Given the description of an element on the screen output the (x, y) to click on. 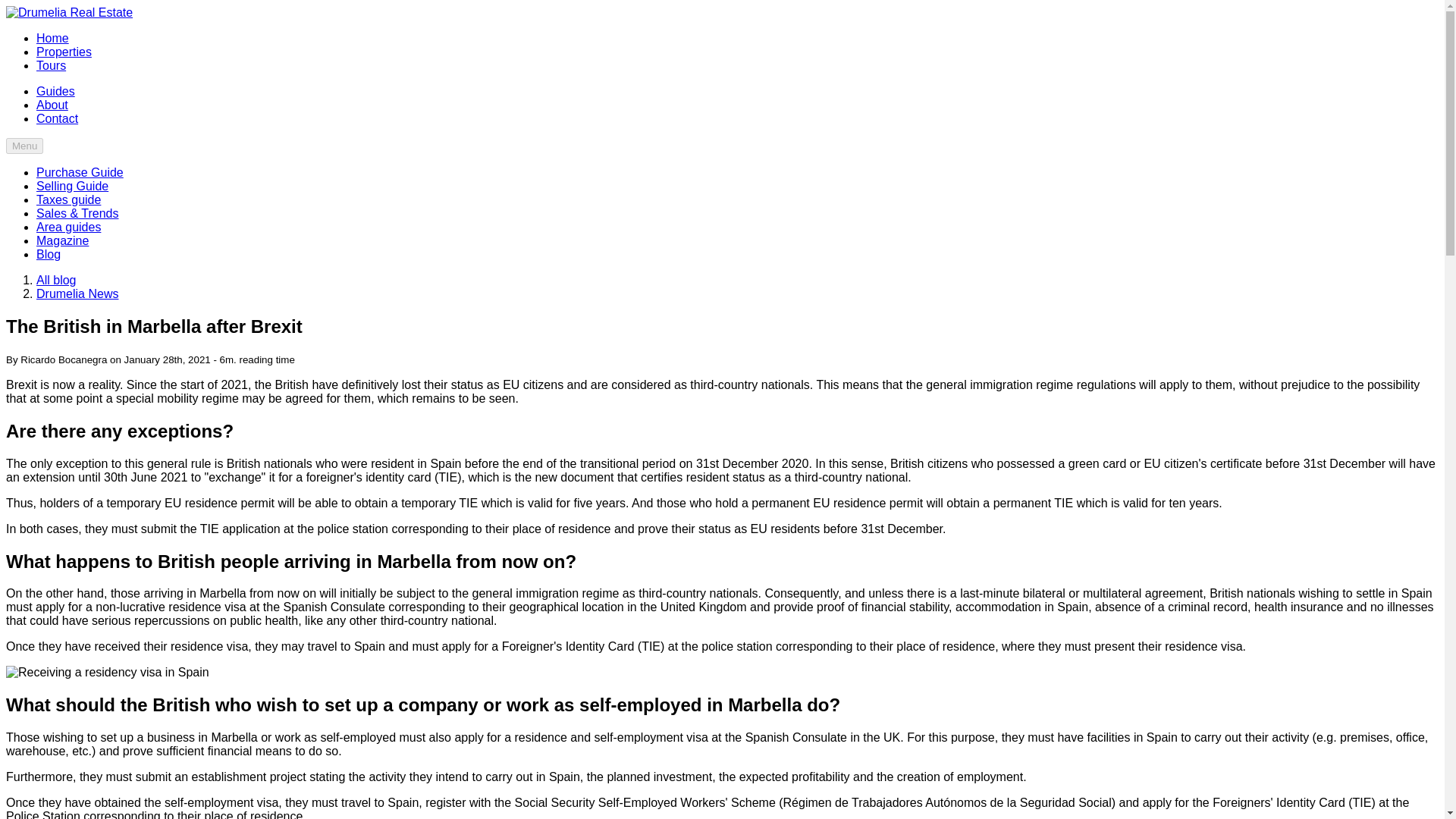
Home (52, 38)
All blog (55, 279)
Contact (57, 118)
Area guides (68, 226)
Menu (24, 145)
Purchase Guide (79, 172)
Magazine (62, 240)
Blog (48, 254)
All blog (55, 279)
Tours (50, 65)
Drumelia News (76, 293)
Taxes guide (68, 199)
Properties (63, 51)
About (52, 104)
Guides (55, 91)
